Given the description of an element on the screen output the (x, y) to click on. 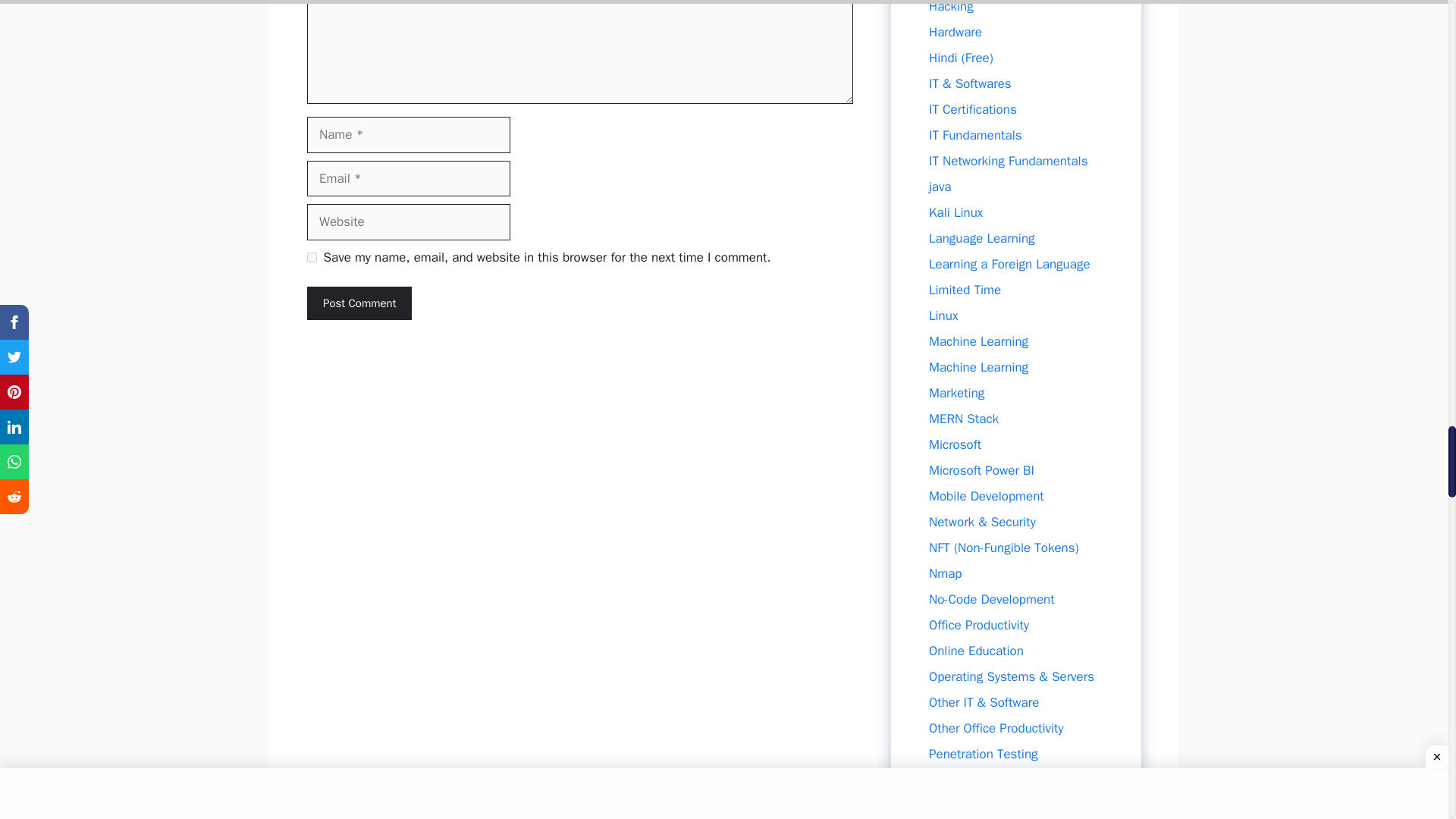
Post Comment (359, 303)
yes (312, 257)
